Given the description of an element on the screen output the (x, y) to click on. 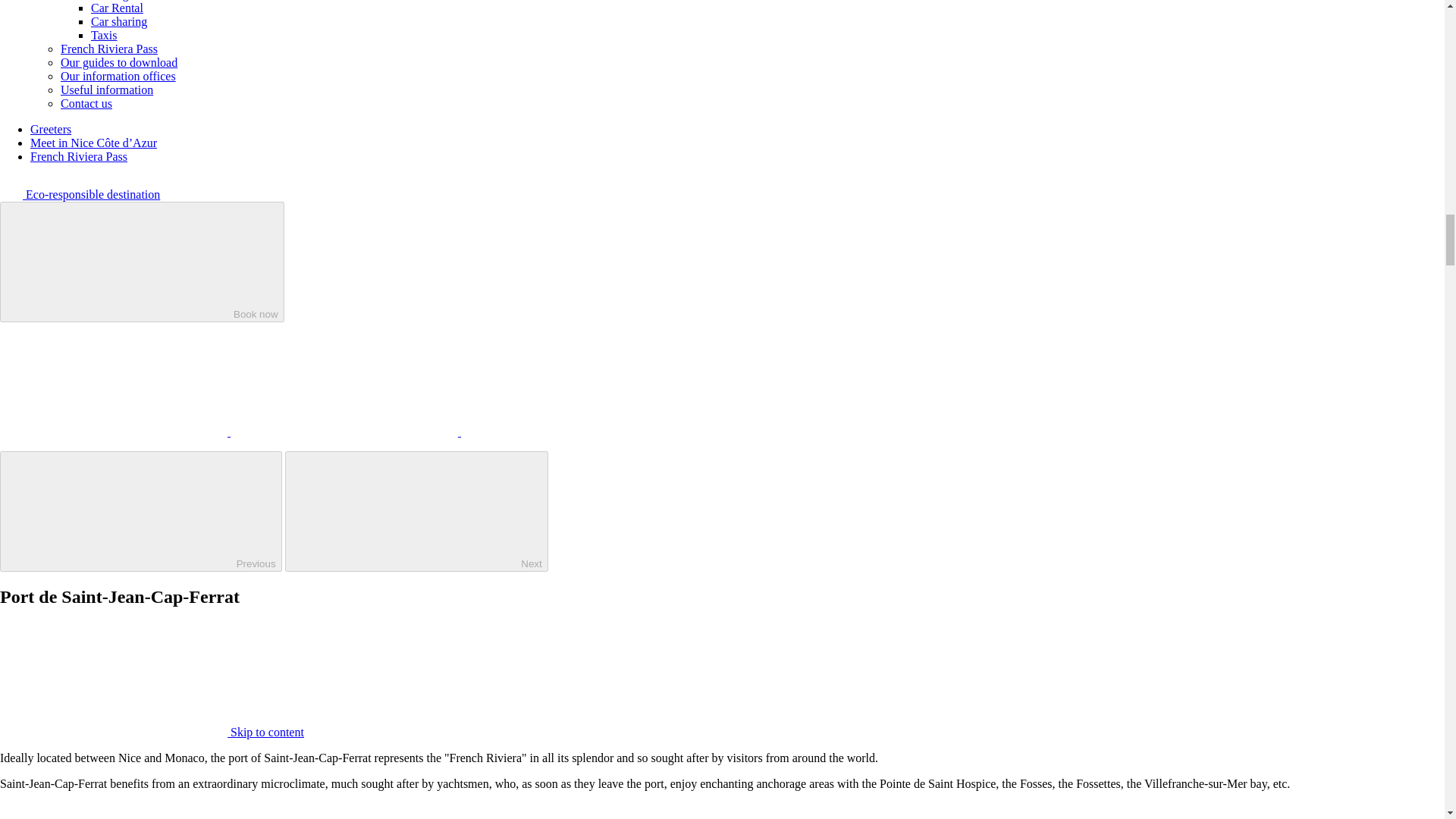
Skip to content (152, 731)
